Given the description of an element on the screen output the (x, y) to click on. 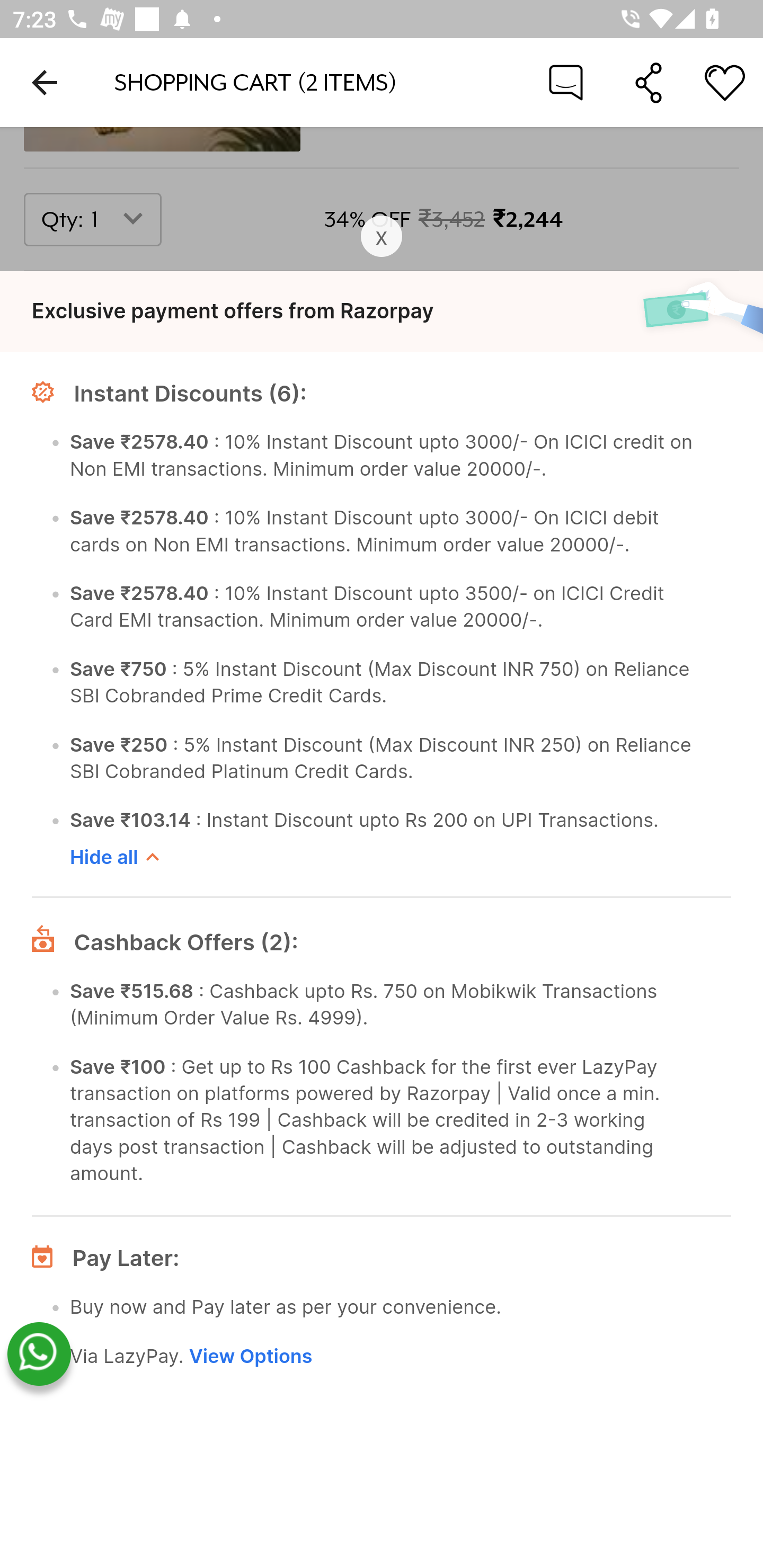
Navigate up (44, 82)
Chat (565, 81)
Share Cart (648, 81)
Wishlist (724, 81)
x (381, 237)
Hide all (381, 860)
whatsapp (38, 1354)
View Options (249, 1355)
